Given the description of an element on the screen output the (x, y) to click on. 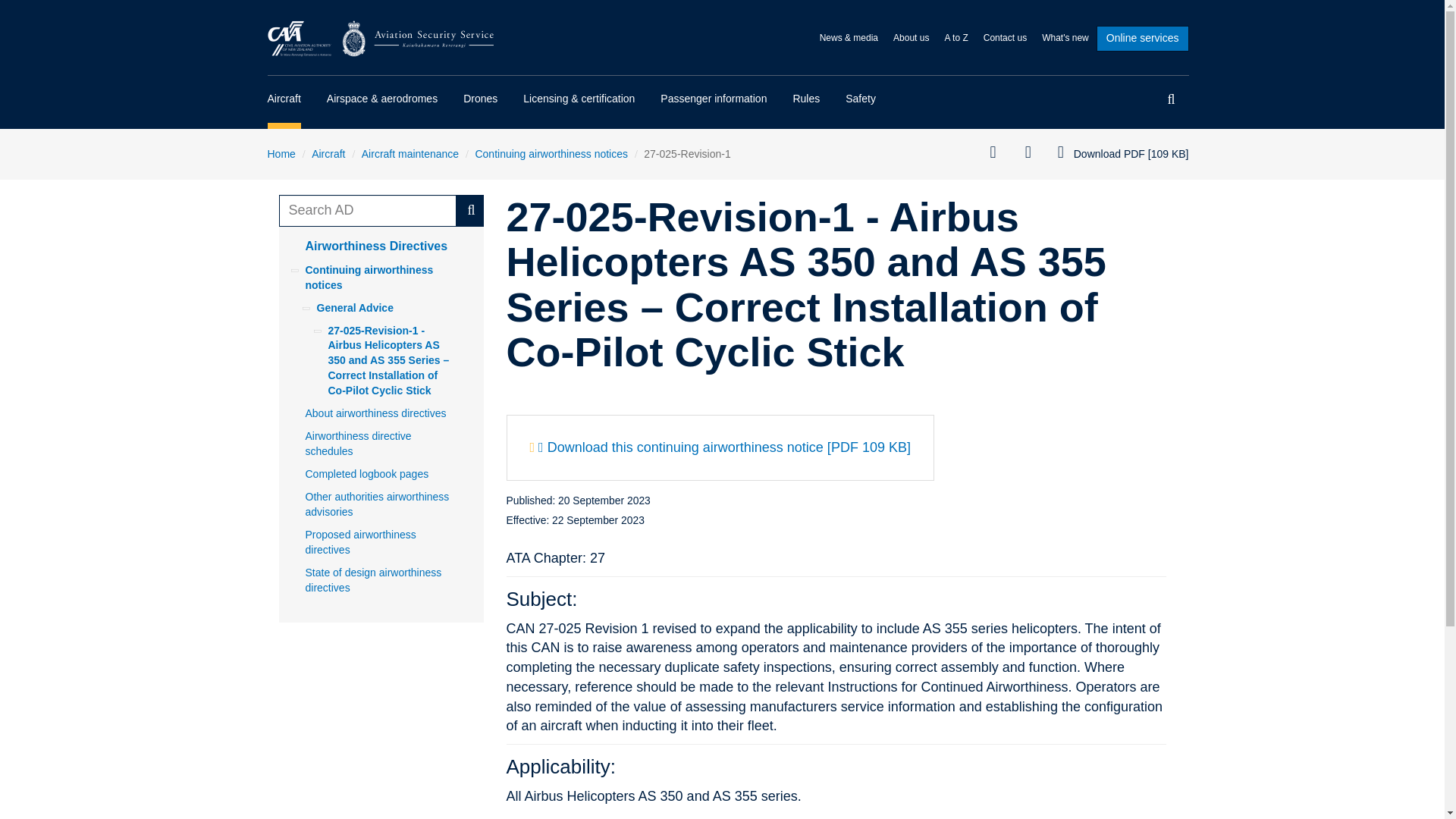
Print (998, 153)
Online services (1142, 38)
Go to Home Page (380, 37)
